Given the description of an element on the screen output the (x, y) to click on. 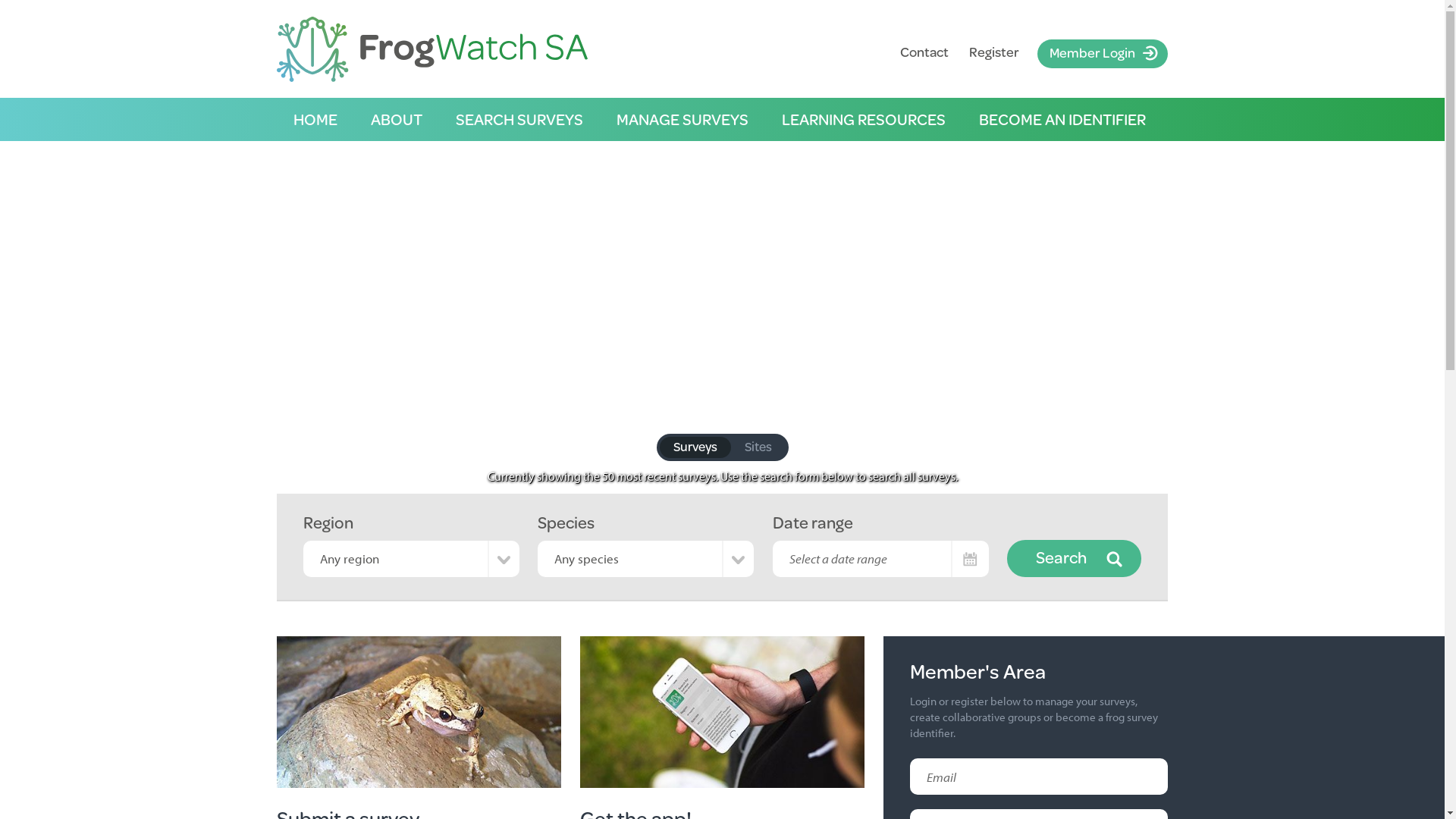
Register Element type: text (994, 51)
Member Login Element type: text (1102, 53)
Contact Element type: text (924, 51)
HOME Element type: text (315, 119)
LEARNING RESOURCES Element type: text (863, 119)
Sites Element type: text (758, 447)
BECOME AN IDENTIFIER Element type: text (1062, 119)
SEARCH SURVEYS Element type: text (519, 119)
MANAGE SURVEYS Element type: text (682, 119)
Surveys Element type: text (695, 447)
ABOUT Element type: text (396, 119)
Search Element type: text (1074, 557)
